Given the description of an element on the screen output the (x, y) to click on. 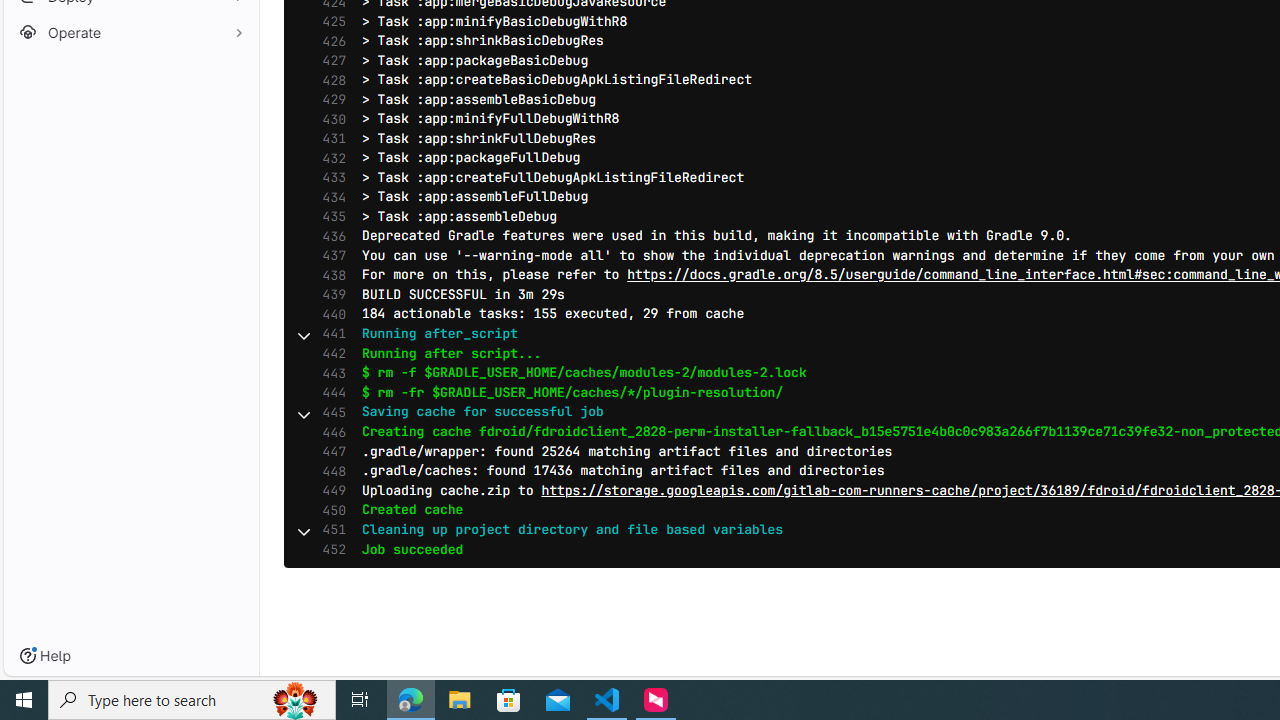
426 (329, 40)
